Given the description of an element on the screen output the (x, y) to click on. 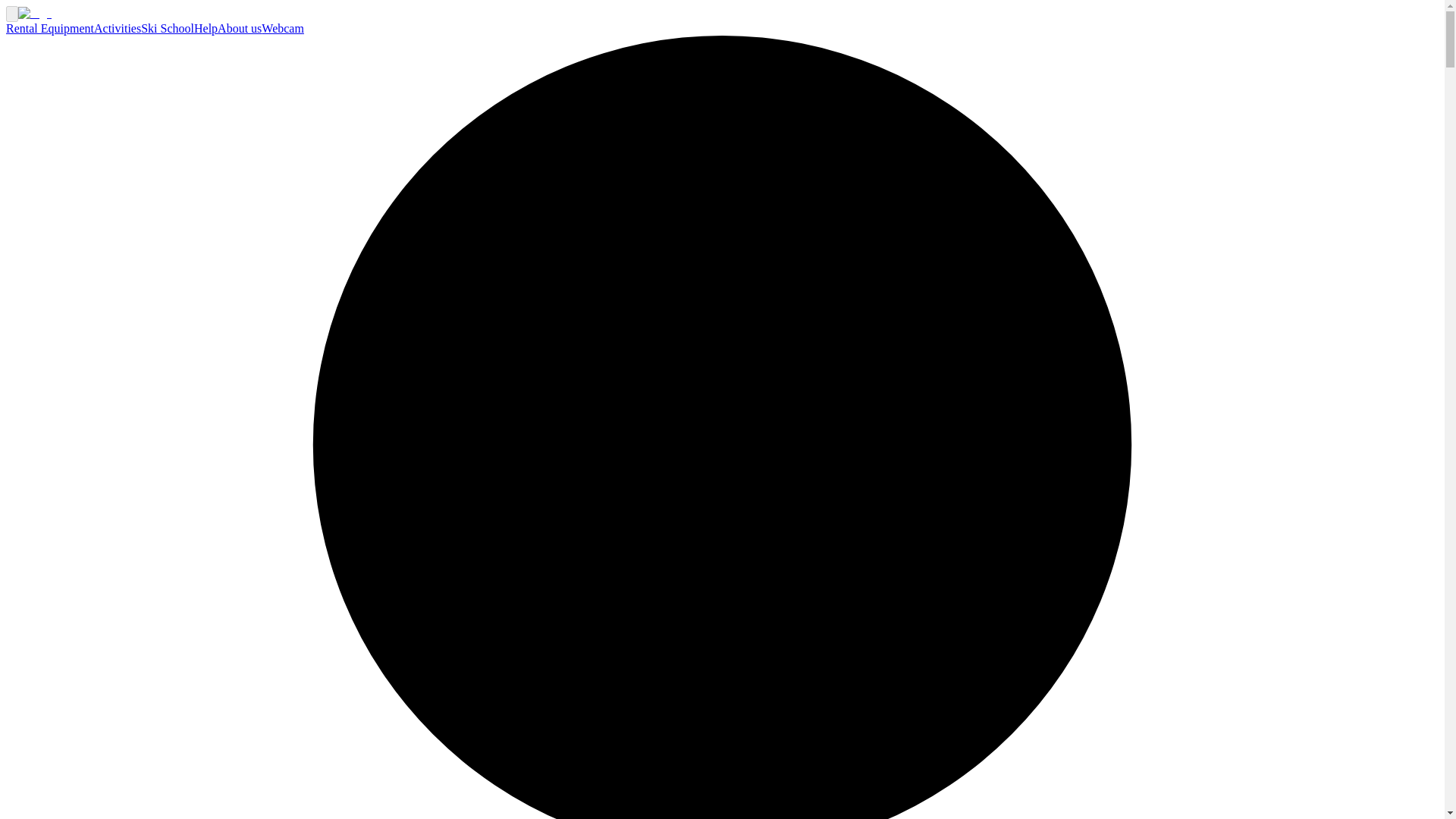
About us (239, 28)
Ski School (167, 28)
Help (204, 28)
Webcam (283, 28)
Activities (117, 28)
Rental Equipment (49, 28)
